Given the description of an element on the screen output the (x, y) to click on. 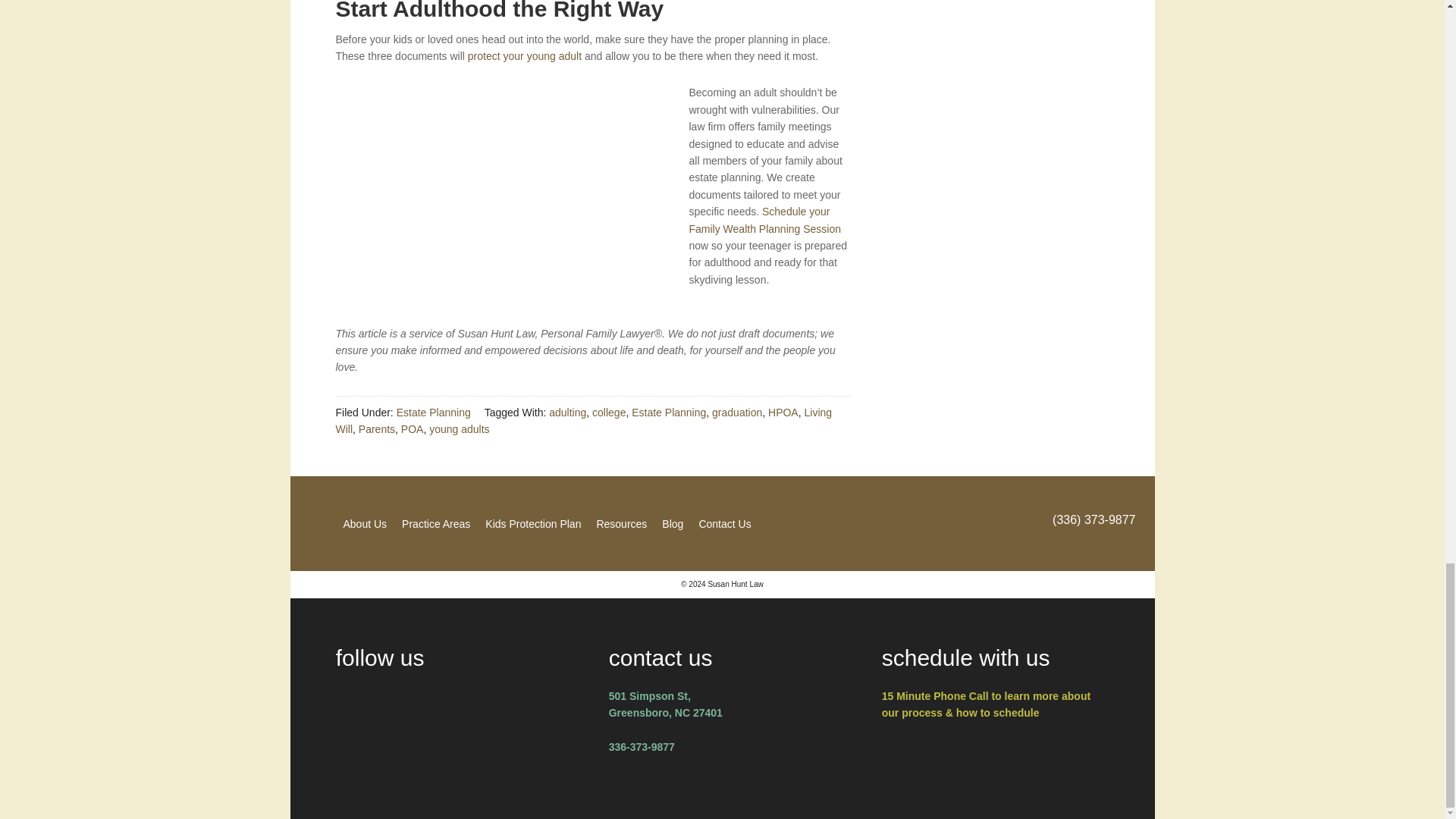
protect your young adult (523, 55)
college (609, 412)
Schedule your Family Wealth Planning Session (764, 219)
Estate Planning (433, 412)
adulting (567, 412)
Estate Planning (668, 412)
